Given the description of an element on the screen output the (x, y) to click on. 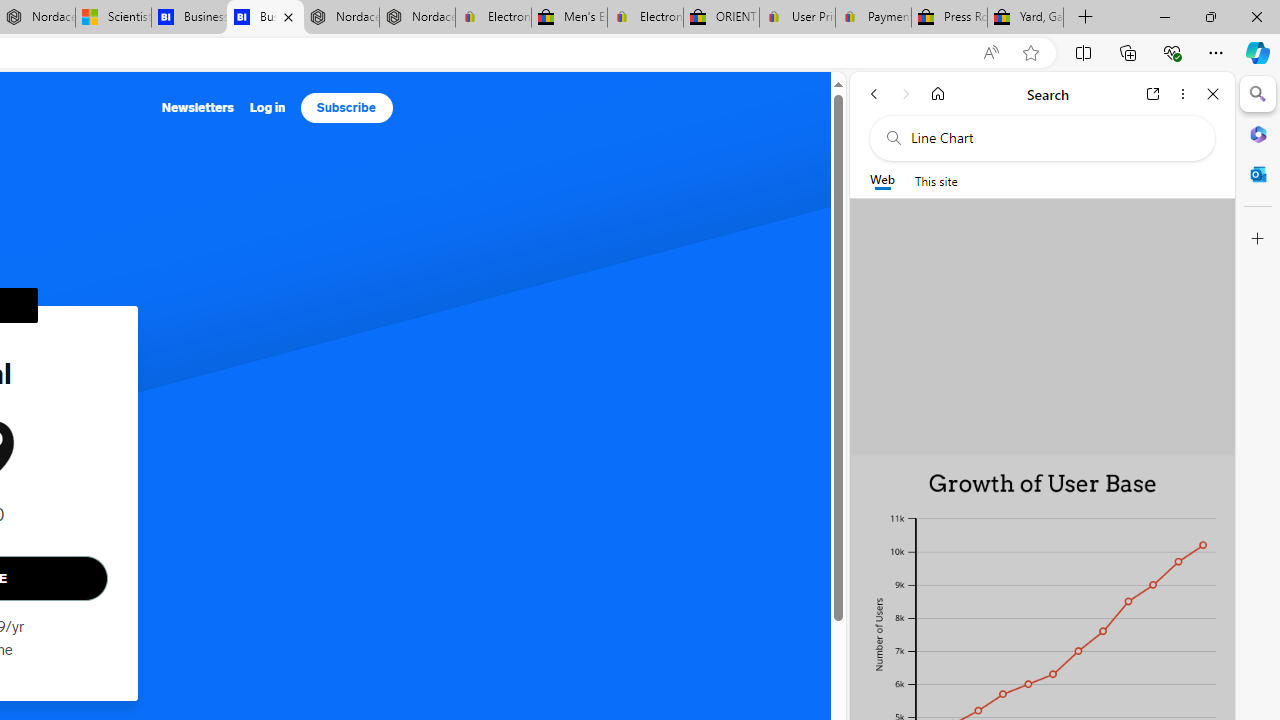
Newsletters (198, 107)
